Given the description of an element on the screen output the (x, y) to click on. 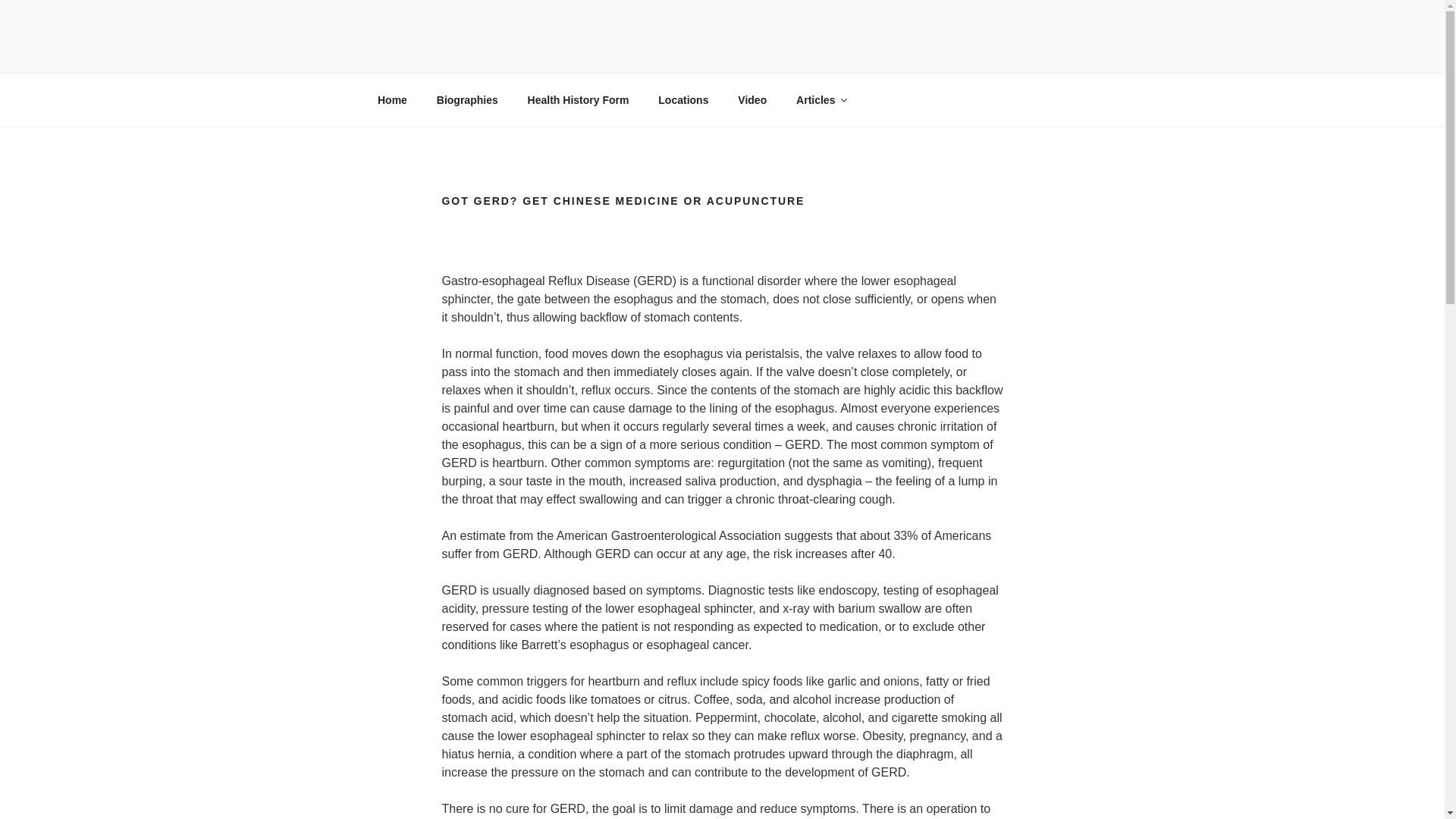
Home (392, 99)
Biographies (467, 99)
Video (752, 99)
Locations (683, 99)
ALIGN ACUPUNCTURE (548, 52)
Health History Form (577, 99)
Articles (821, 99)
